Given the description of an element on the screen output the (x, y) to click on. 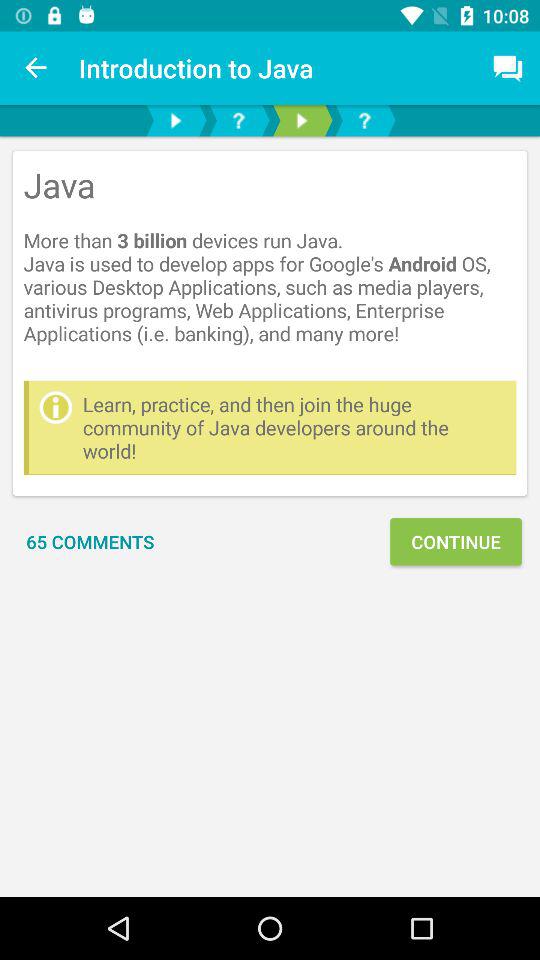
open the icon below the java  more icon (293, 427)
